Given the description of an element on the screen output the (x, y) to click on. 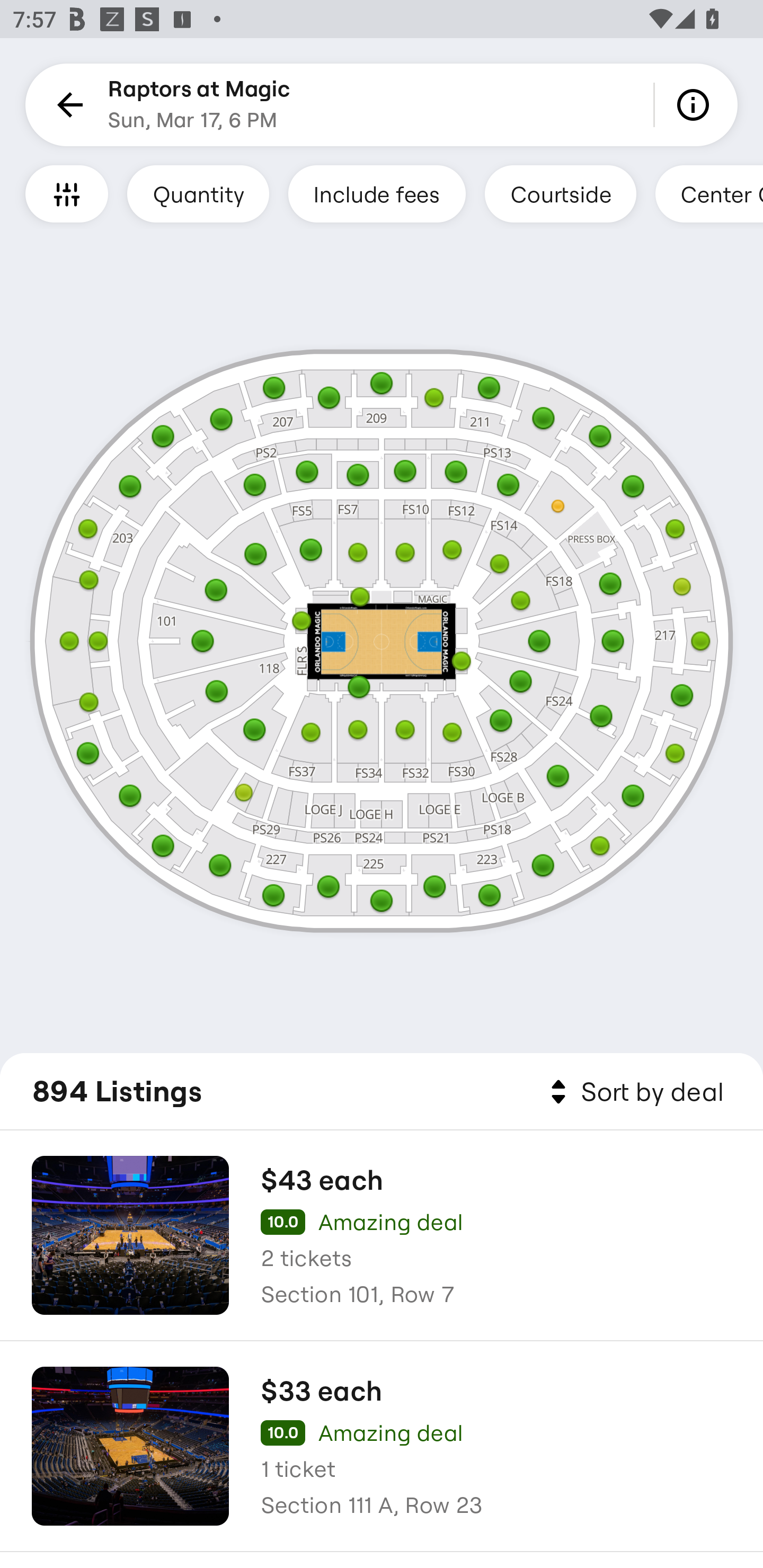
Back (66, 104)
Raptors at Magic Sun, Mar 17, 6 PM (199, 104)
Info (695, 104)
Filters and Accessible Seating (66, 193)
Quantity (198, 193)
Include fees (376, 193)
Courtside (560, 193)
Sort by deal (633, 1091)
